Given the description of an element on the screen output the (x, y) to click on. 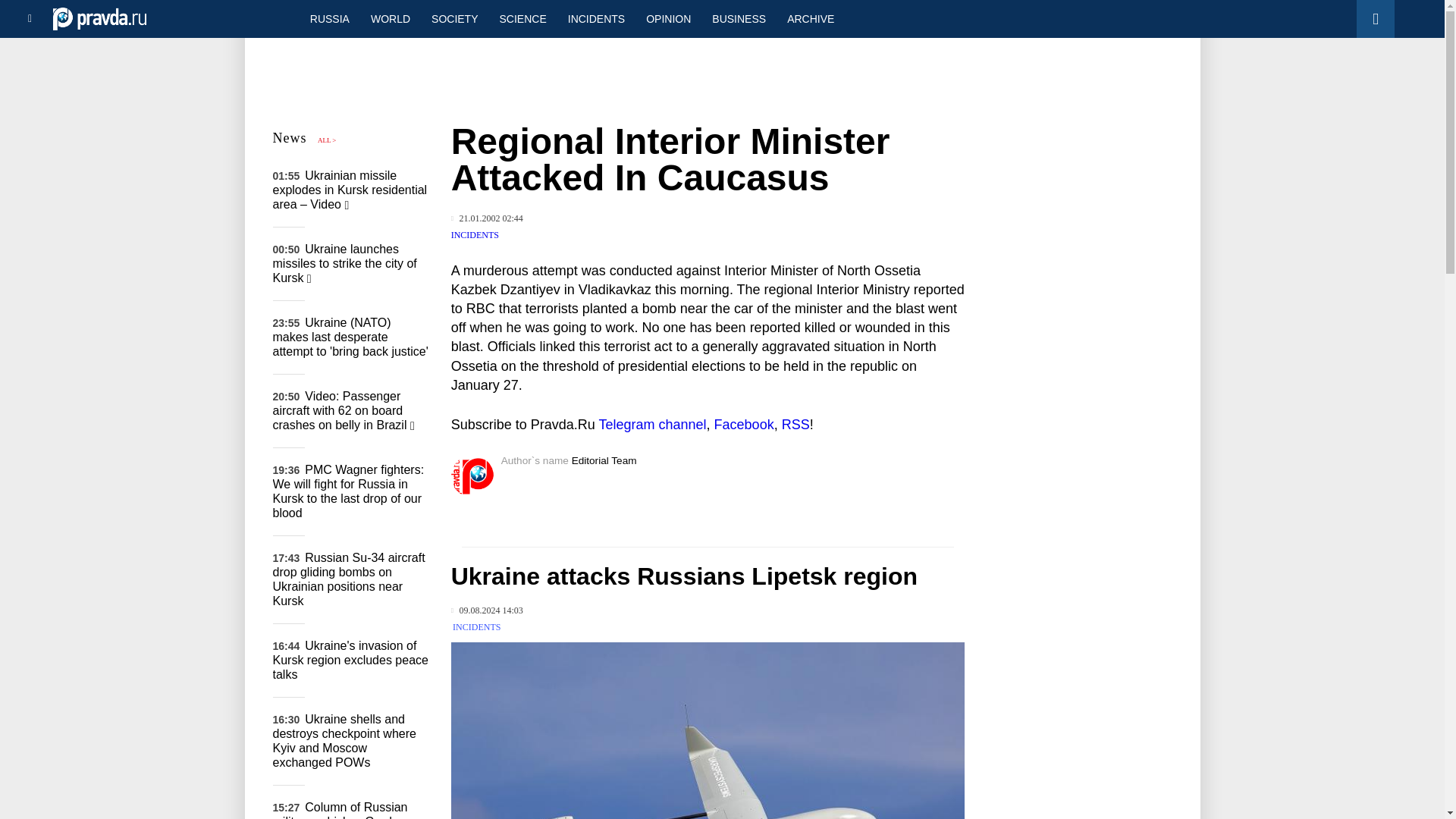
INCIDENTS (475, 235)
News (290, 137)
Ukraine's invasion of Kursk region excludes peace talks (350, 659)
INCIDENTS (595, 18)
Editorial Team (604, 460)
Facebook (744, 424)
RSS (795, 424)
Ukraine launches missiles to strike the city of Kursk (344, 263)
